Given the description of an element on the screen output the (x, y) to click on. 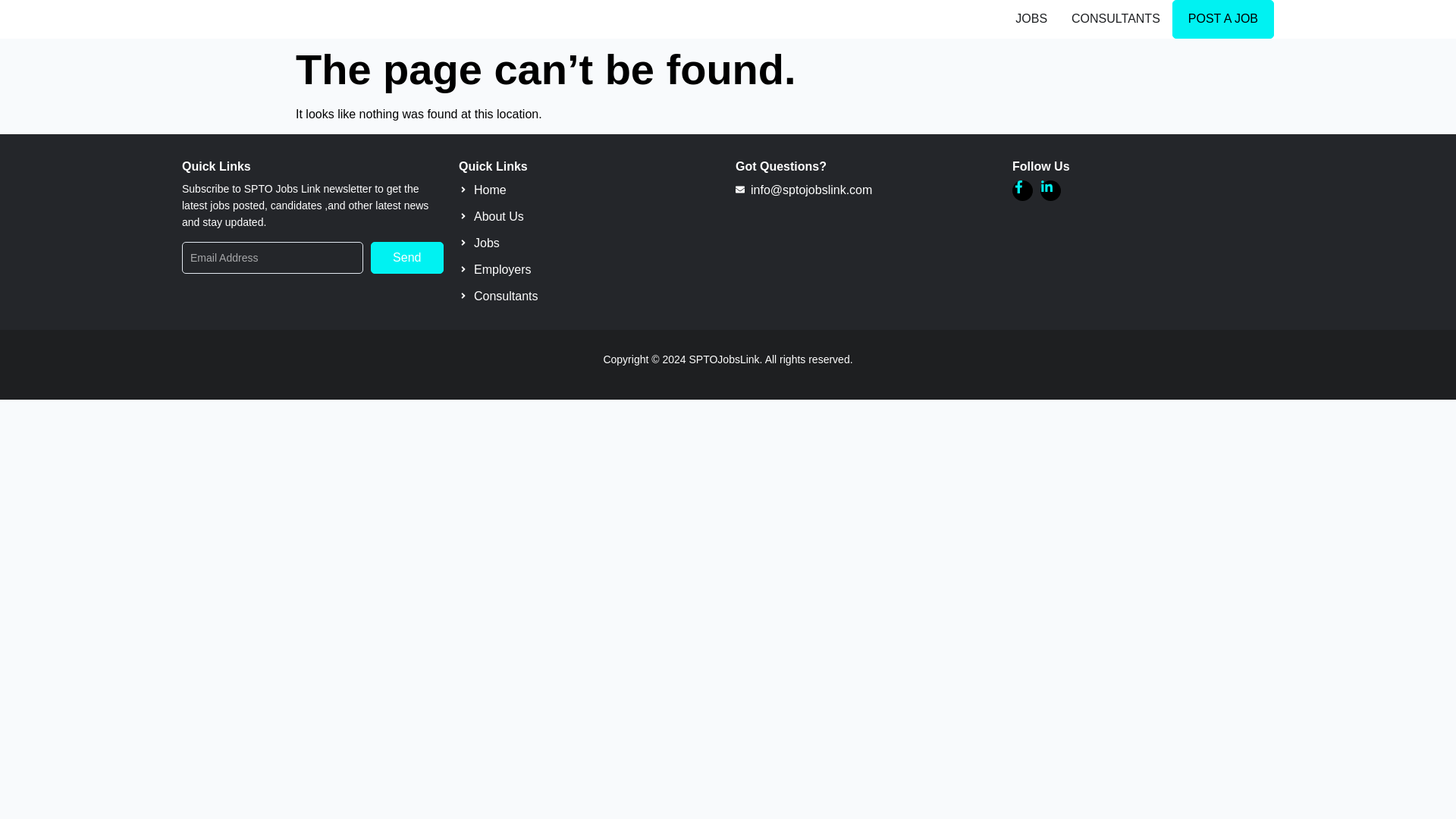
Consultants (589, 295)
Home (589, 189)
JOBS (1030, 18)
CONSULTANTS (1115, 18)
Employers (589, 269)
Send (406, 257)
About Us (589, 216)
Jobs (589, 242)
POST A JOB (1223, 19)
